Given the description of an element on the screen output the (x, y) to click on. 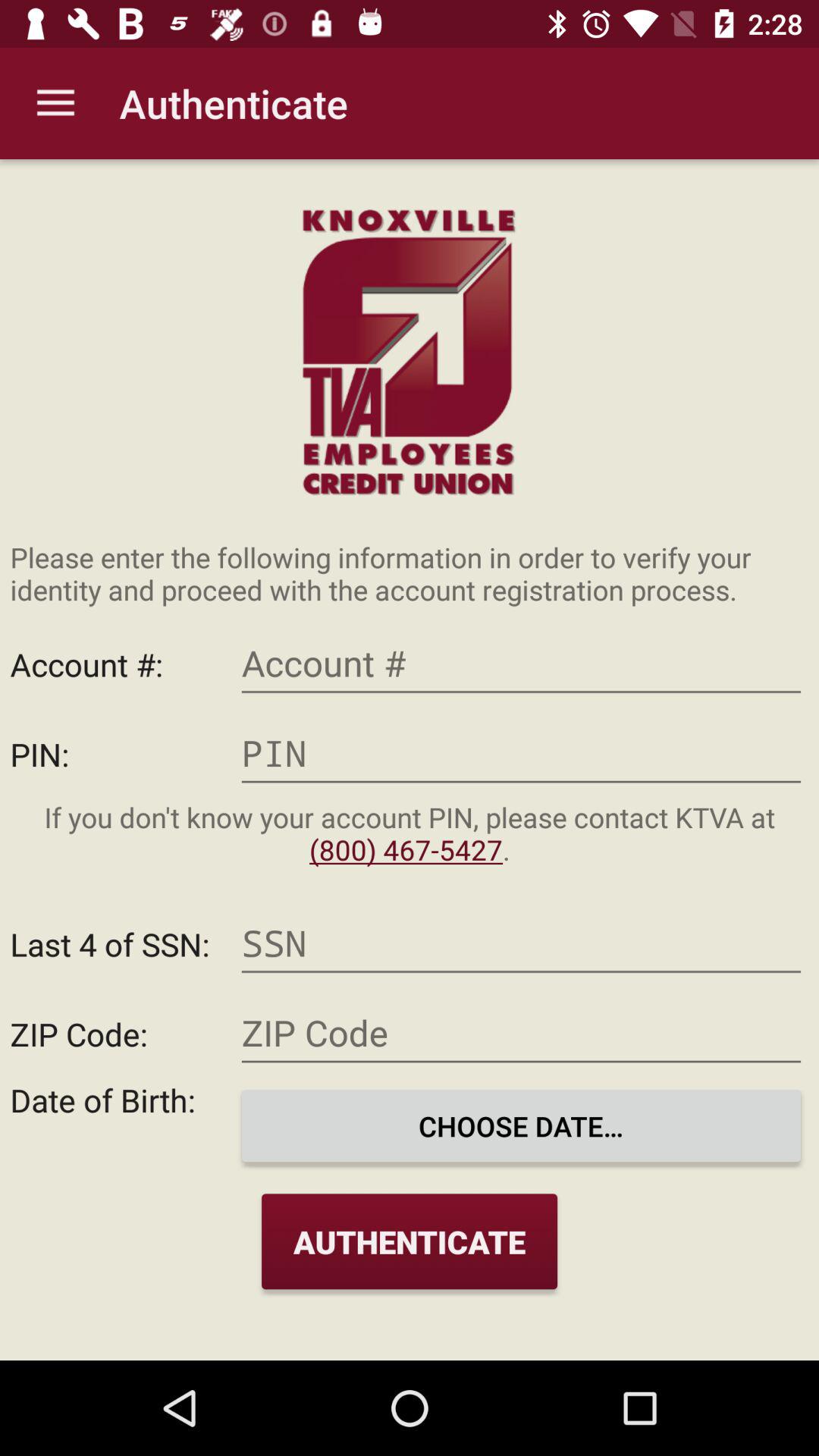
pin text field (520, 753)
